Given the description of an element on the screen output the (x, y) to click on. 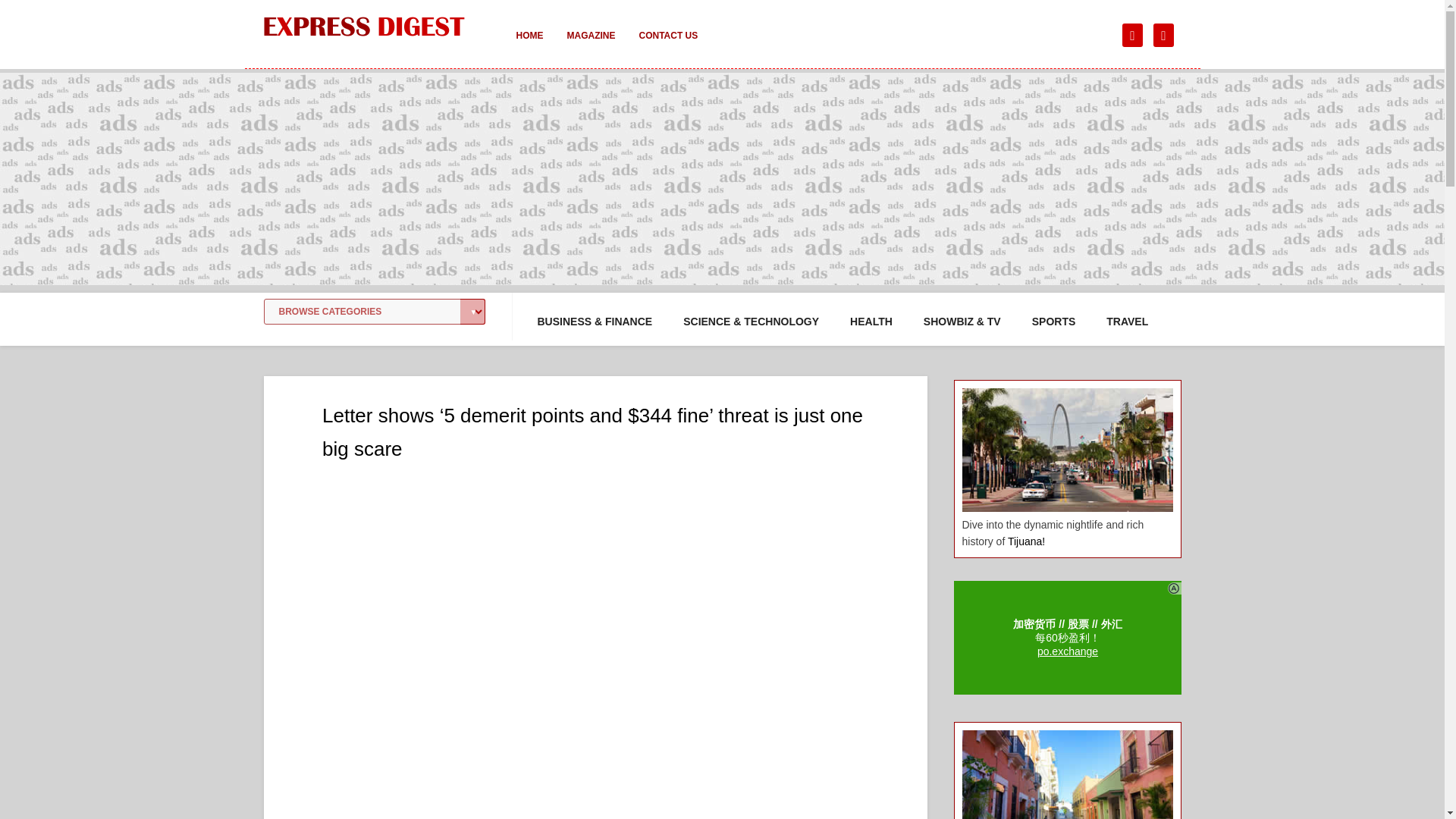
MAGAZINE (590, 45)
TRAVEL (1127, 321)
Tijuana! (1026, 541)
SPORTS (1053, 321)
HOME (528, 45)
CONTACT US (667, 45)
HEALTH (871, 321)
